Given the description of an element on the screen output the (x, y) to click on. 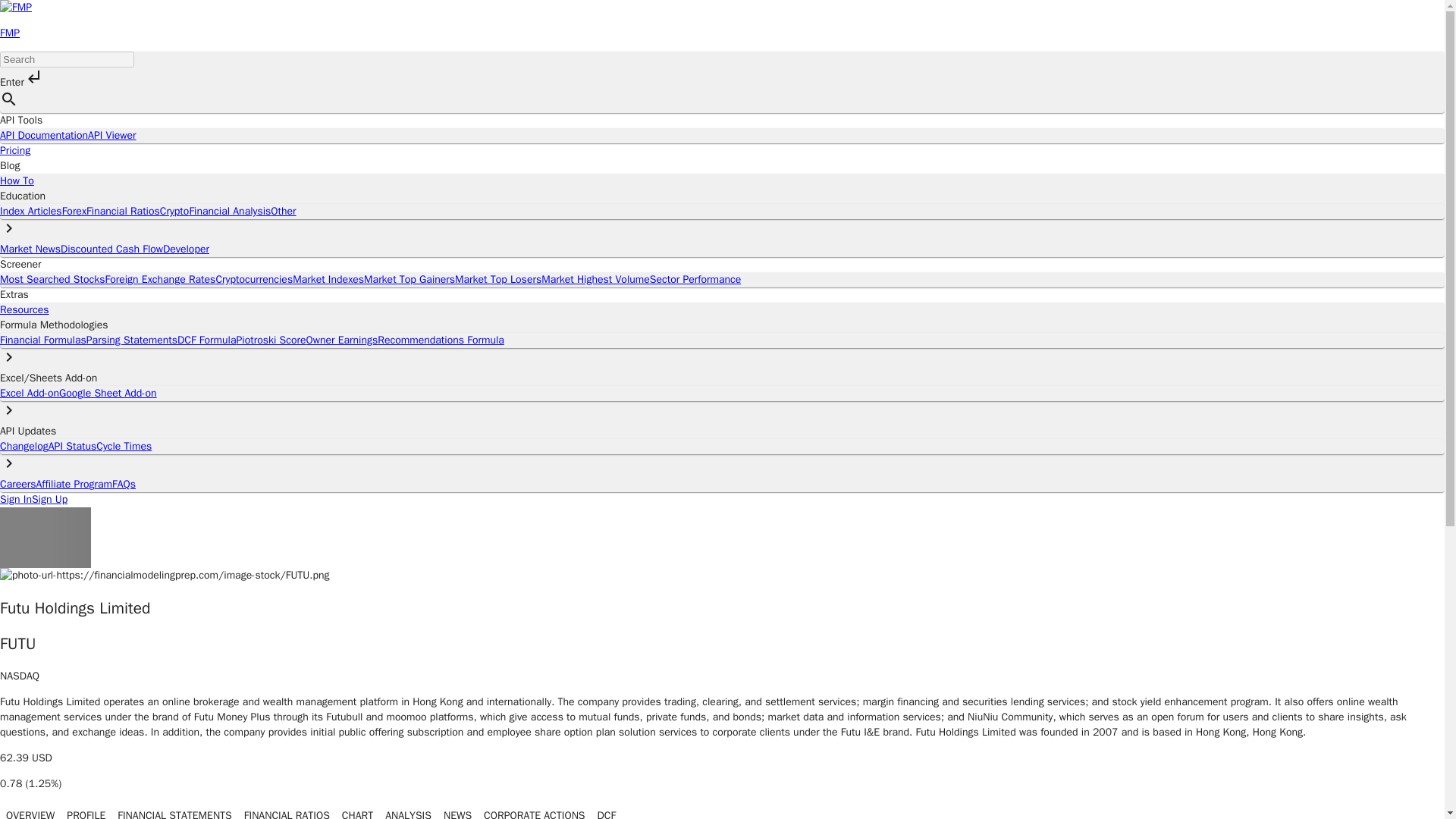
DCF Formula (206, 339)
Financial Ratios (122, 210)
Market News (30, 248)
Foreign Exchange Rates (159, 278)
How To (16, 180)
Cryptocurrencies (253, 278)
Sign Up (49, 499)
Market Top Gainers (409, 278)
Affiliate Program (74, 483)
Developer (186, 248)
API Documentation (43, 134)
Google Sheet Add-on (108, 392)
Market Top Losers (497, 278)
OVERVIEW (30, 810)
Sign In (16, 499)
